Given the description of an element on the screen output the (x, y) to click on. 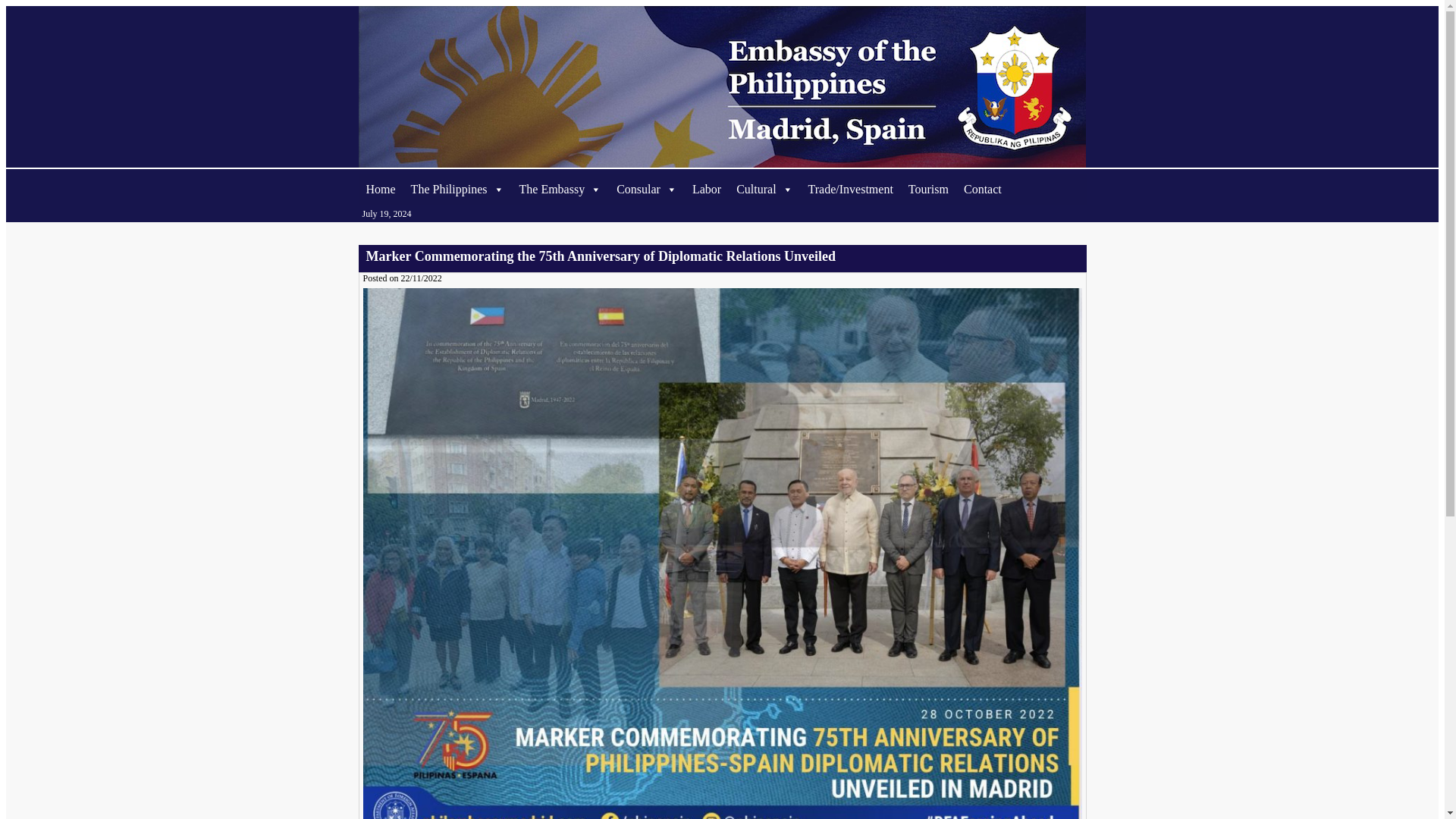
Consular (646, 189)
Cultural (764, 189)
Labor (706, 189)
The Philippines (457, 189)
Contact (982, 189)
Home (380, 189)
The Embassy (559, 189)
Tourism (928, 189)
